Given the description of an element on the screen output the (x, y) to click on. 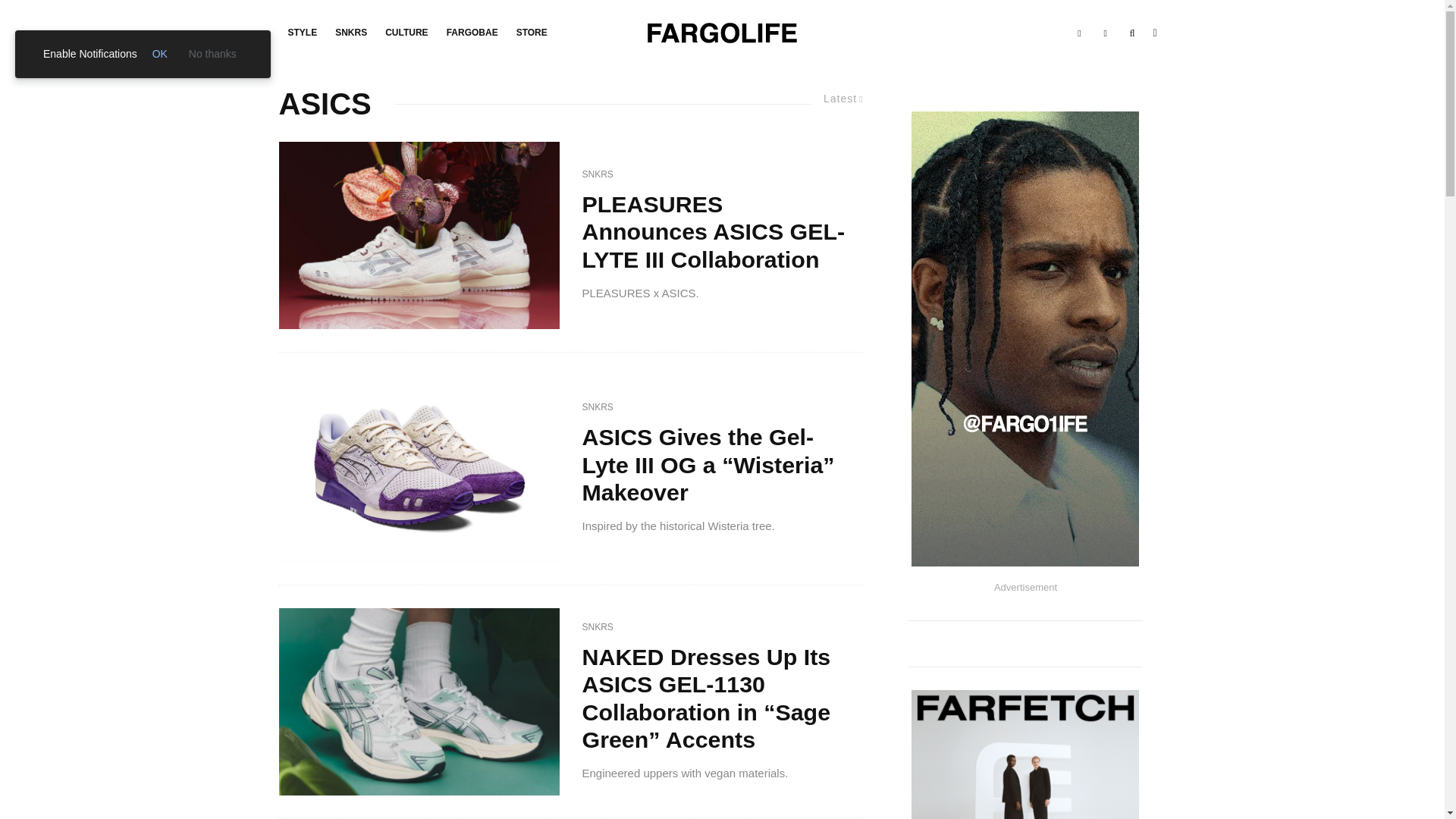
PLEASURES Announces ASICS GEL-LYTE III Collaboration (716, 231)
SNKRS (597, 407)
FARGOBAE (472, 33)
STYLE (302, 33)
SNKRS (597, 174)
SNKRS (350, 33)
SNKRS (597, 627)
STORE (531, 33)
CULTURE (405, 33)
